Given the description of an element on the screen output the (x, y) to click on. 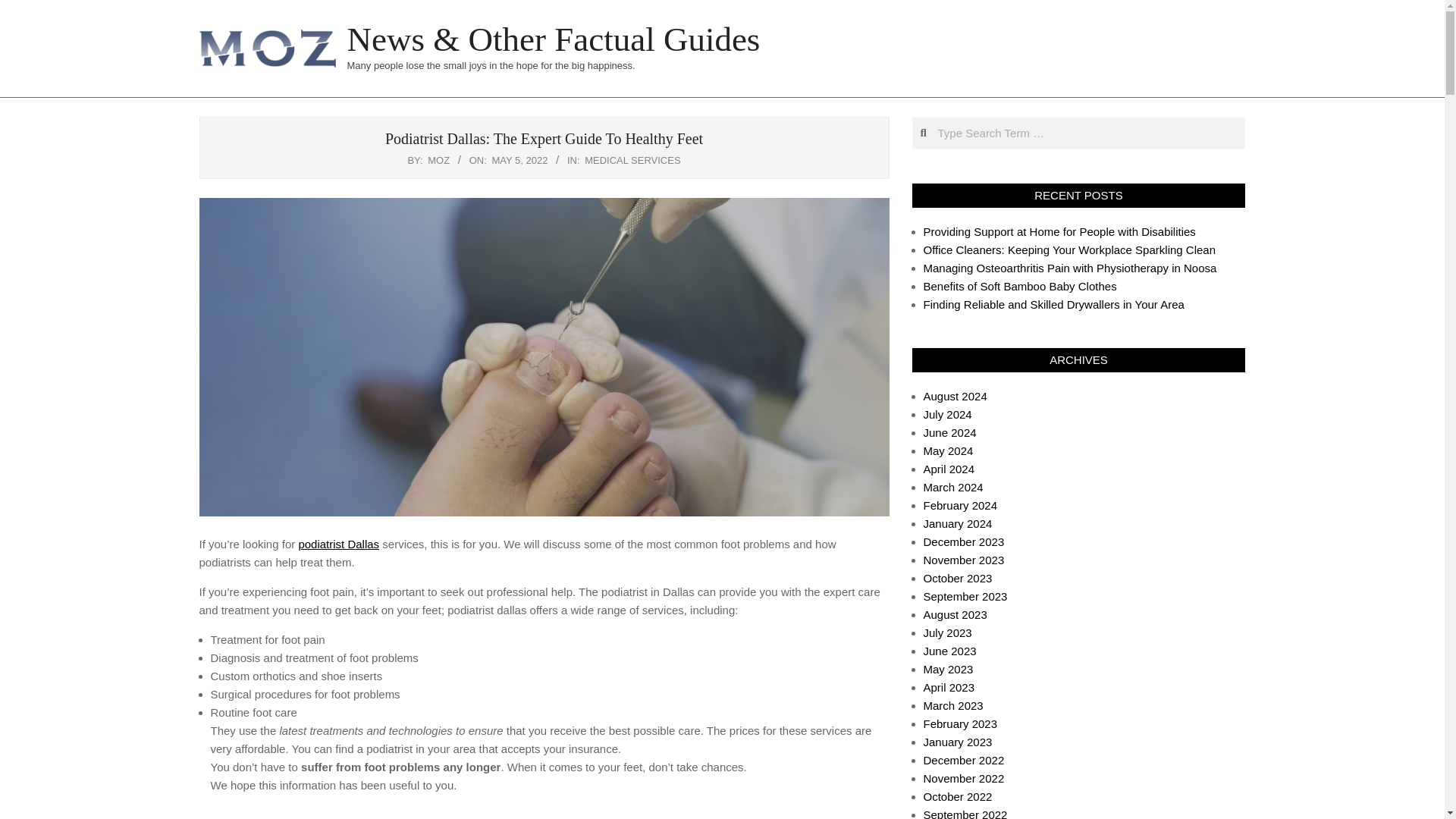
May 2024 (948, 450)
June 2024 (949, 431)
March 2023 (953, 705)
June 2023 (949, 650)
January 2024 (957, 522)
Managing Osteoarthritis Pain with Physiotherapy in Noosa (1070, 267)
September 2022 (965, 813)
Benefits of Soft Bamboo Baby Clothes (1019, 286)
Office Cleaners: Keeping Your Workplace Sparkling Clean (1069, 249)
podiatrist Dallas (338, 543)
